Given the description of an element on the screen output the (x, y) to click on. 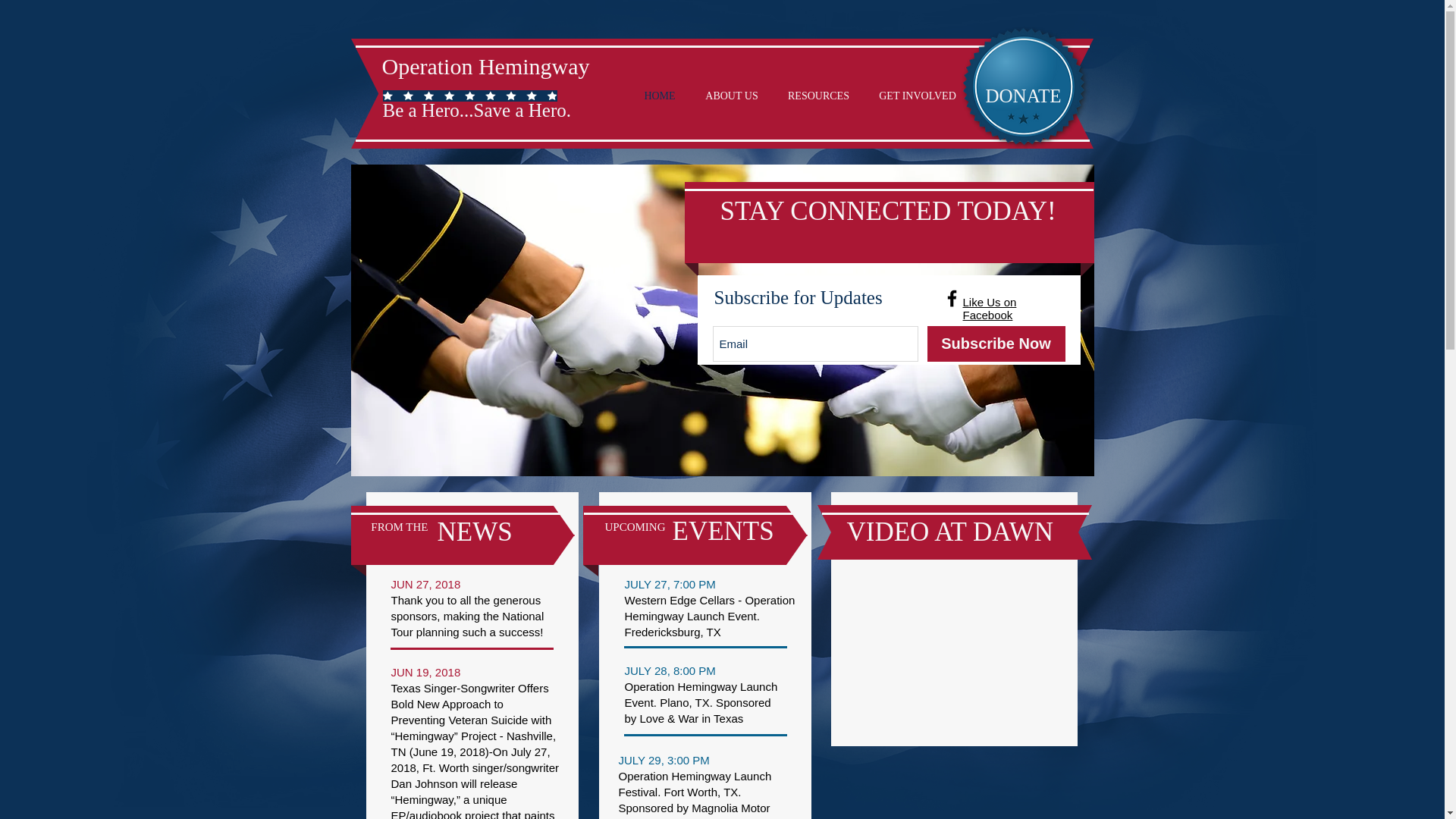
Operation Hemingway (485, 66)
HOME (659, 95)
RESOURCES (818, 95)
DONATE (1022, 95)
Be a Hero...Save a Hero. (475, 109)
Like Us on Facebook (989, 308)
Subscribe Now (995, 343)
GET INVOLVED (917, 95)
ABOUT US (731, 95)
External YouTube (953, 652)
